Given the description of an element on the screen output the (x, y) to click on. 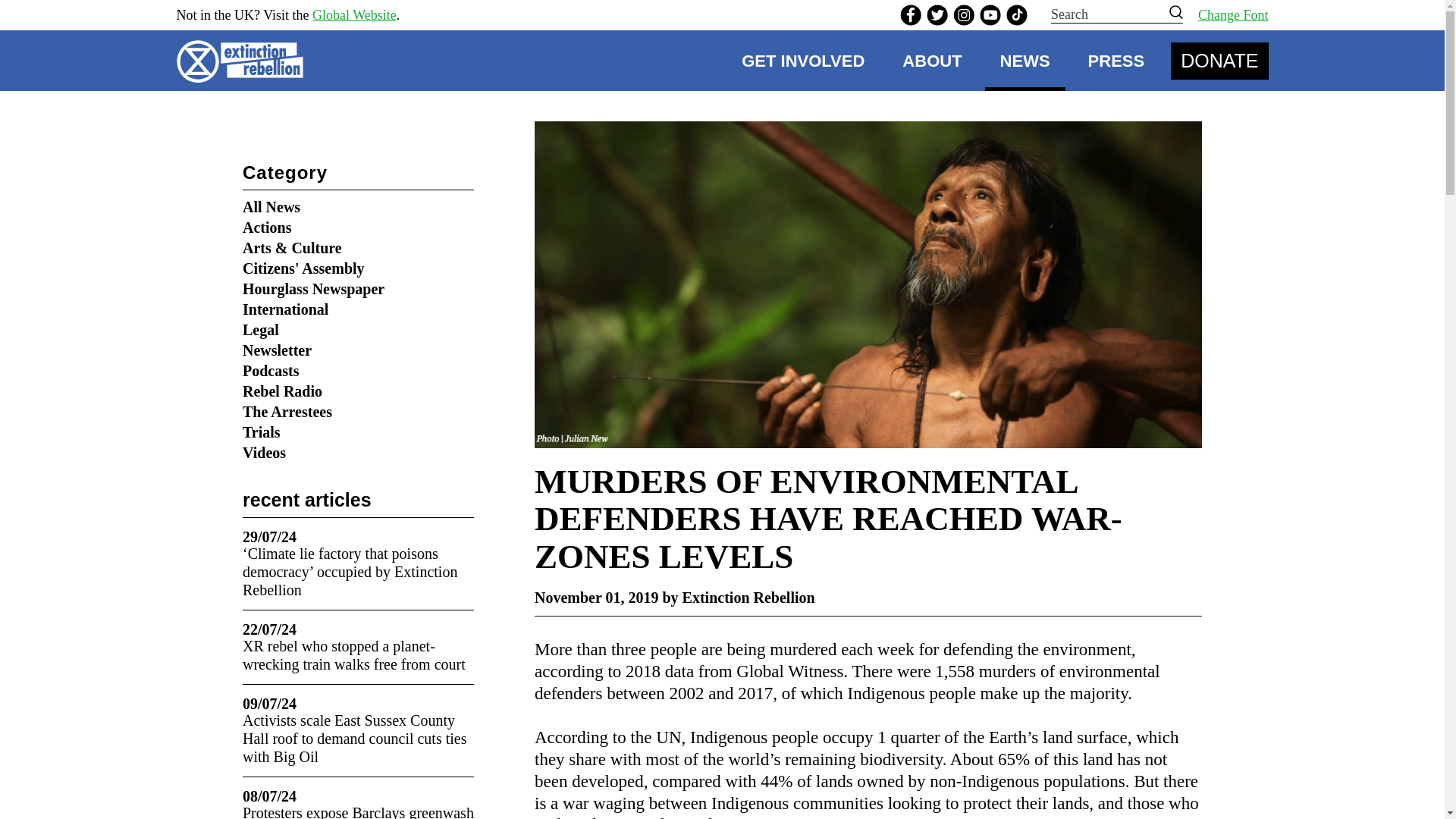
Global Website (354, 14)
Extinction Rebellion logo (244, 61)
